Given the description of an element on the screen output the (x, y) to click on. 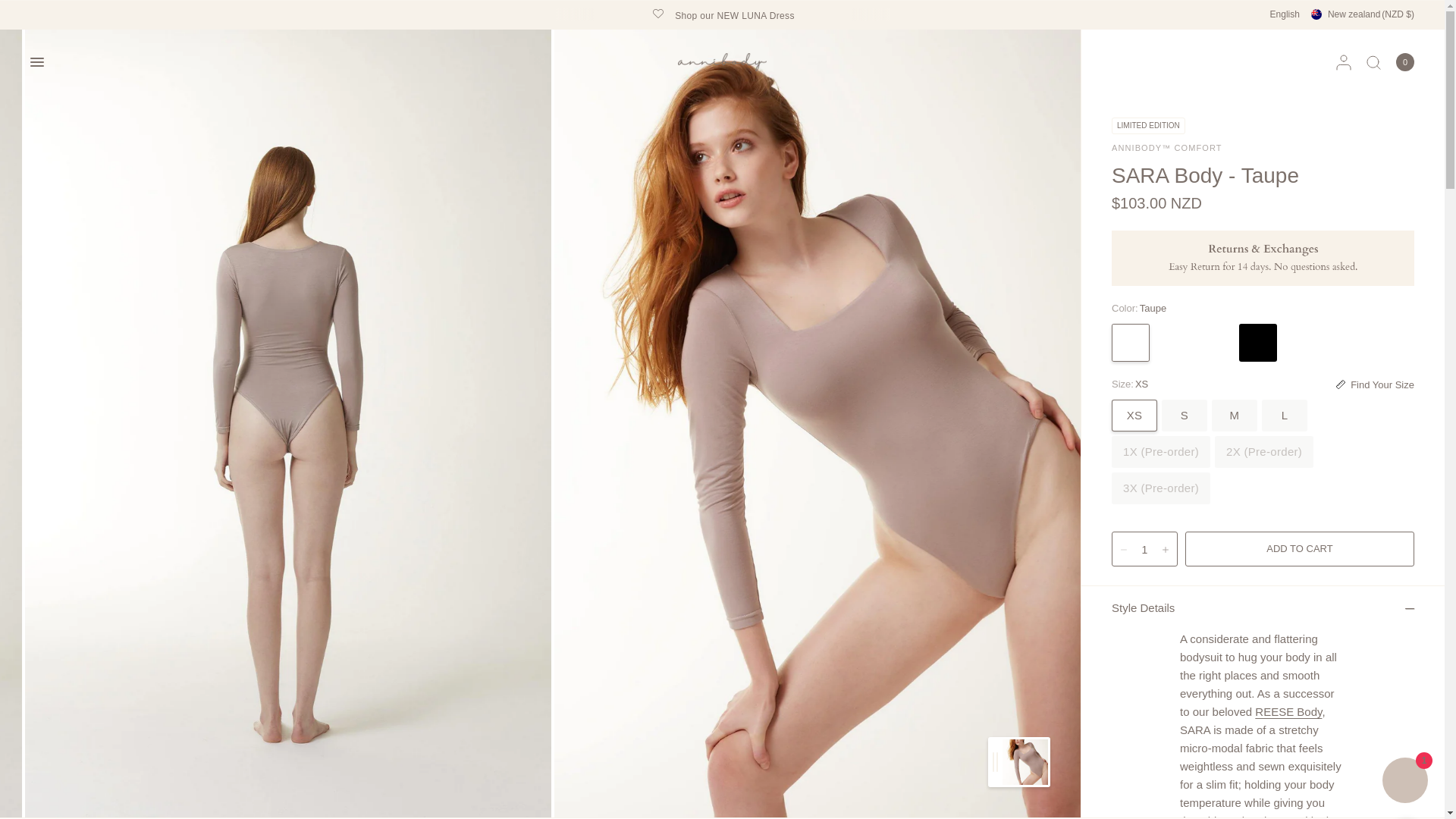
English (1284, 14)
Shop our NEW LUNA Dress (722, 14)
